Given the description of an element on the screen output the (x, y) to click on. 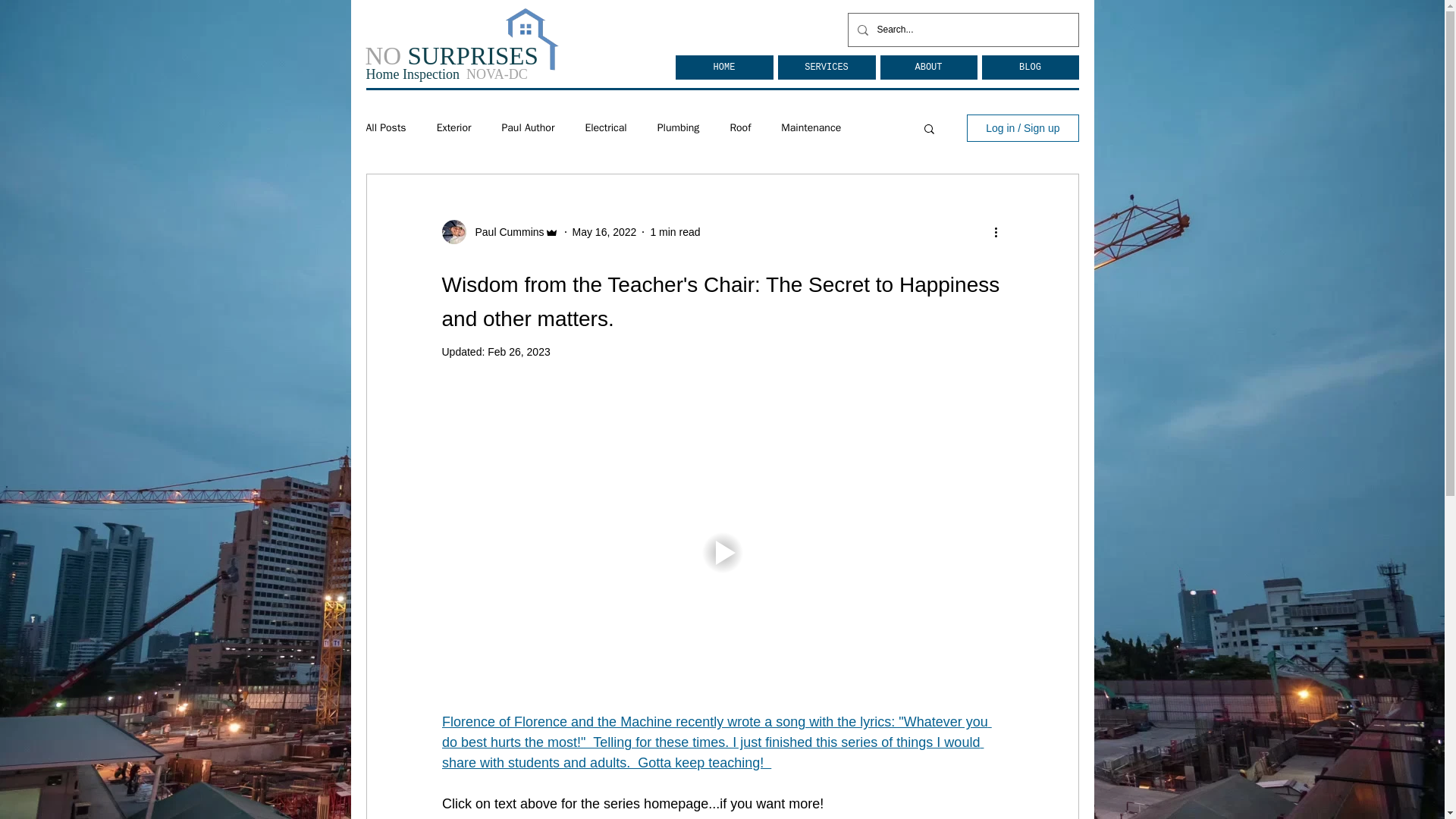
Maintenance (810, 128)
All Posts (385, 128)
HOME (724, 67)
Roof (740, 128)
NO SURPRISES (451, 55)
Electrical (605, 128)
Exterior (453, 128)
Feb 26, 2023 (518, 351)
ABOUT (927, 67)
